Given the description of an element on the screen output the (x, y) to click on. 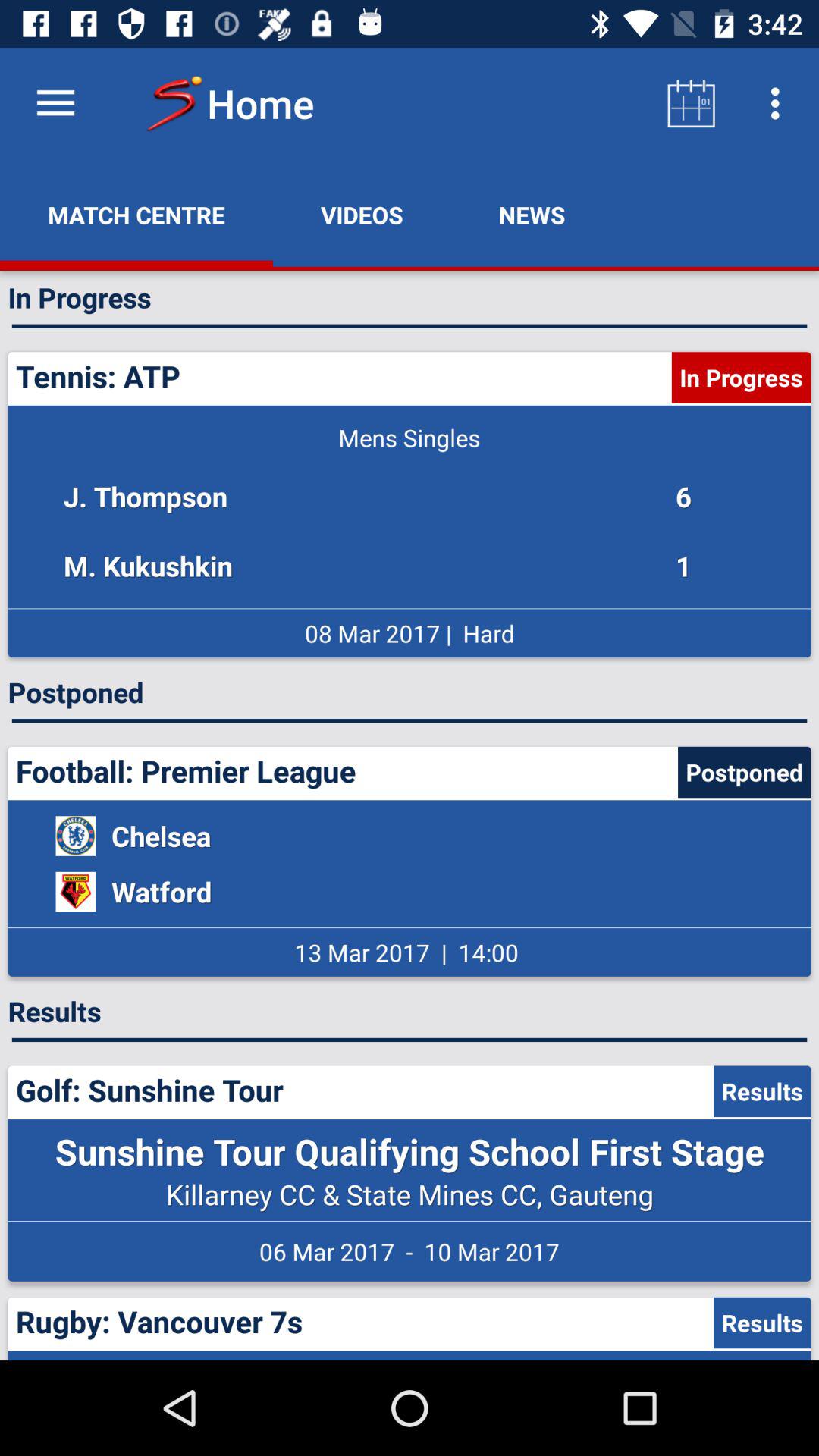
toggle menu (55, 103)
